Given the description of an element on the screen output the (x, y) to click on. 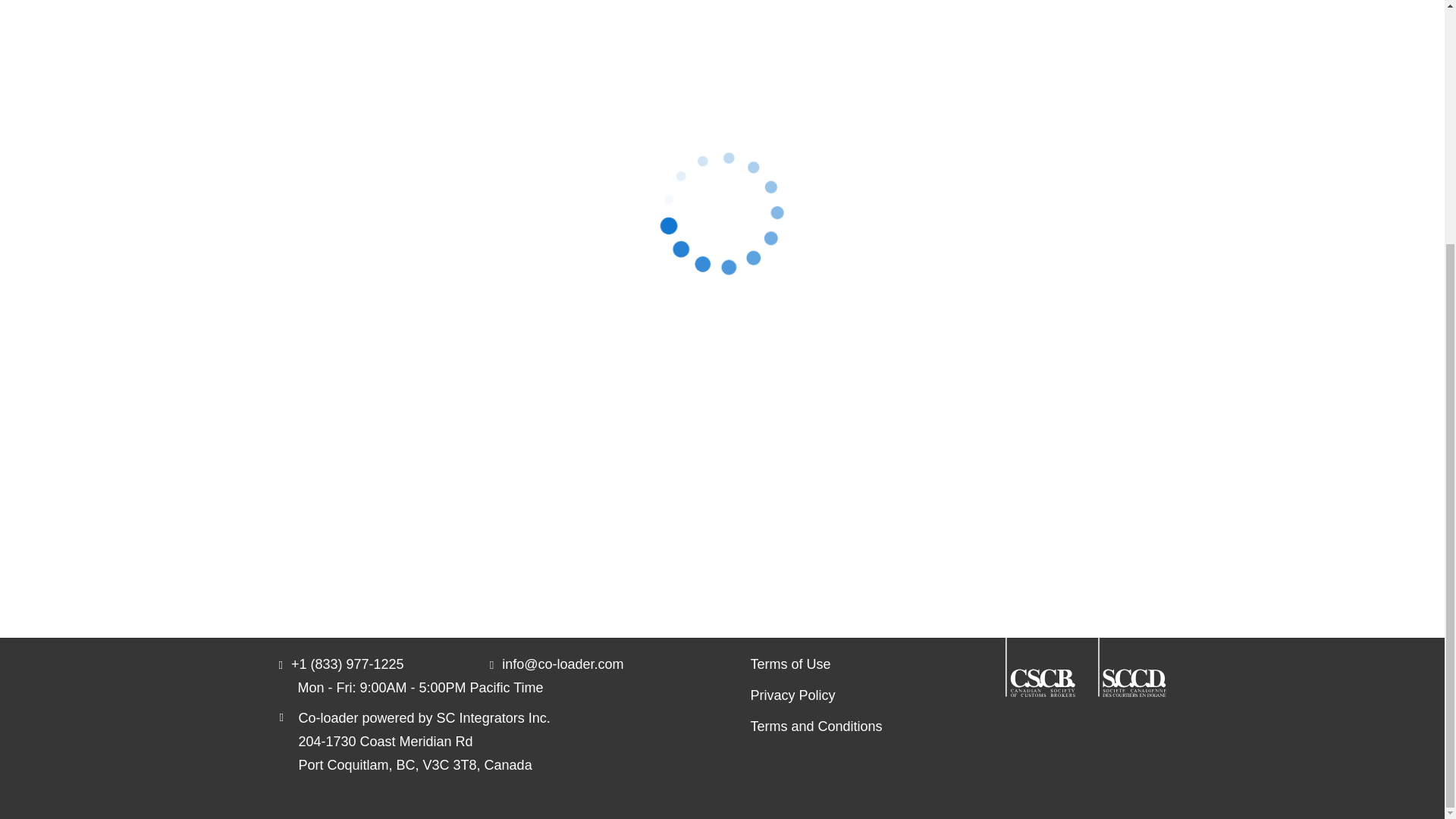
Terms and Conditions (815, 726)
Terms of Use (815, 664)
Privacy Policy (815, 695)
